Given the description of an element on the screen output the (x, y) to click on. 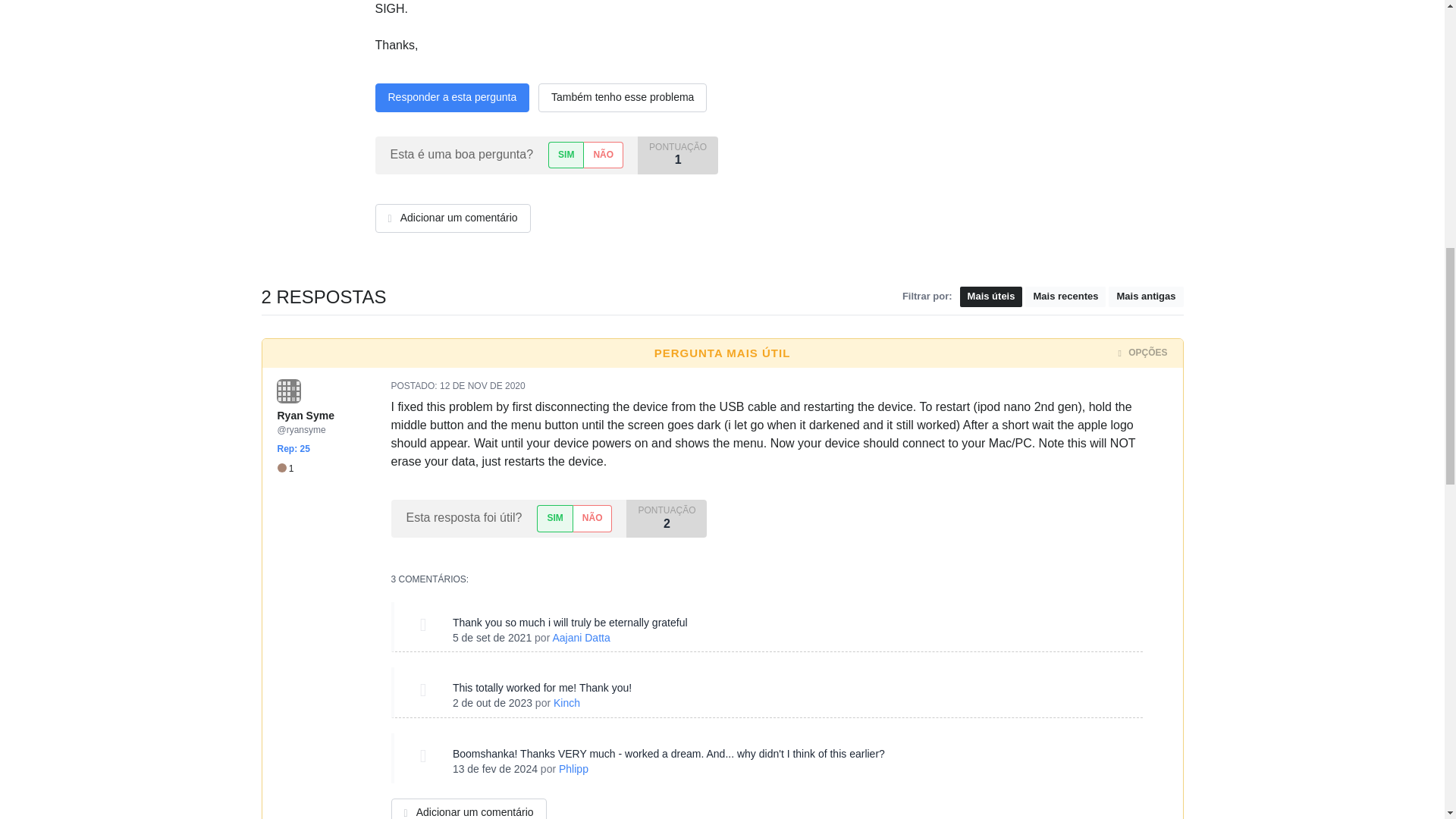
Tue, 13 Feb 2024 03:43:56 -0700 (494, 768)
Responder a esta pergunta (451, 97)
Mon, 02 Oct 2023 10:41:57 -0700 (492, 702)
Sun, 05 Sep 2021 06:55:28 -0700 (491, 636)
Thu, 12 Nov 2020 11:50:04 -0700 (482, 385)
1 emblemas de Bronze (286, 468)
